Given the description of an element on the screen output the (x, y) to click on. 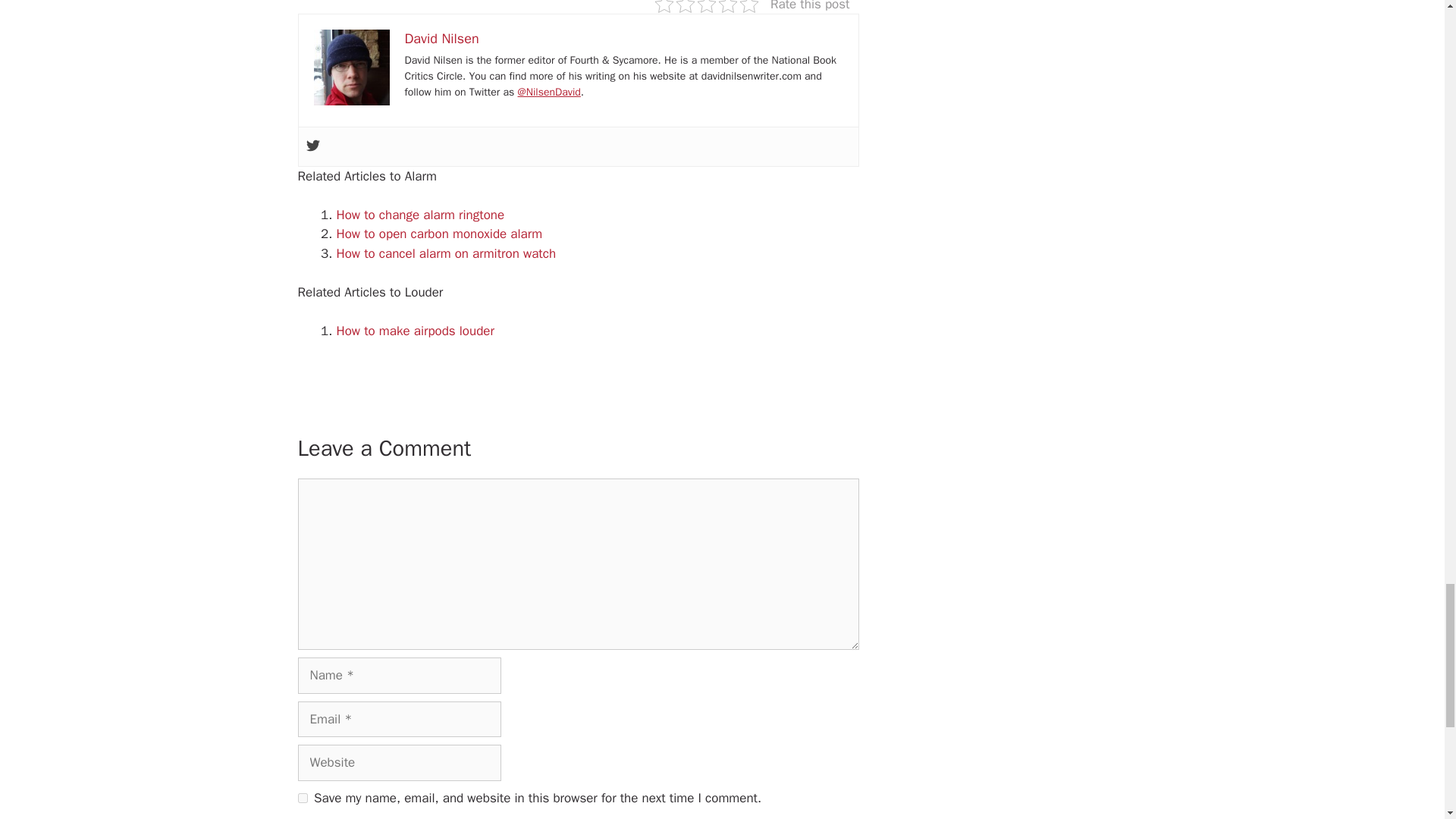
How to open carbon monoxide alarm (439, 233)
How to change alarm ringtone (420, 214)
How to make airpods louder (415, 330)
David Nilsen (441, 38)
yes (302, 798)
How to cancel alarm on armitron watch (446, 253)
